Given the description of an element on the screen output the (x, y) to click on. 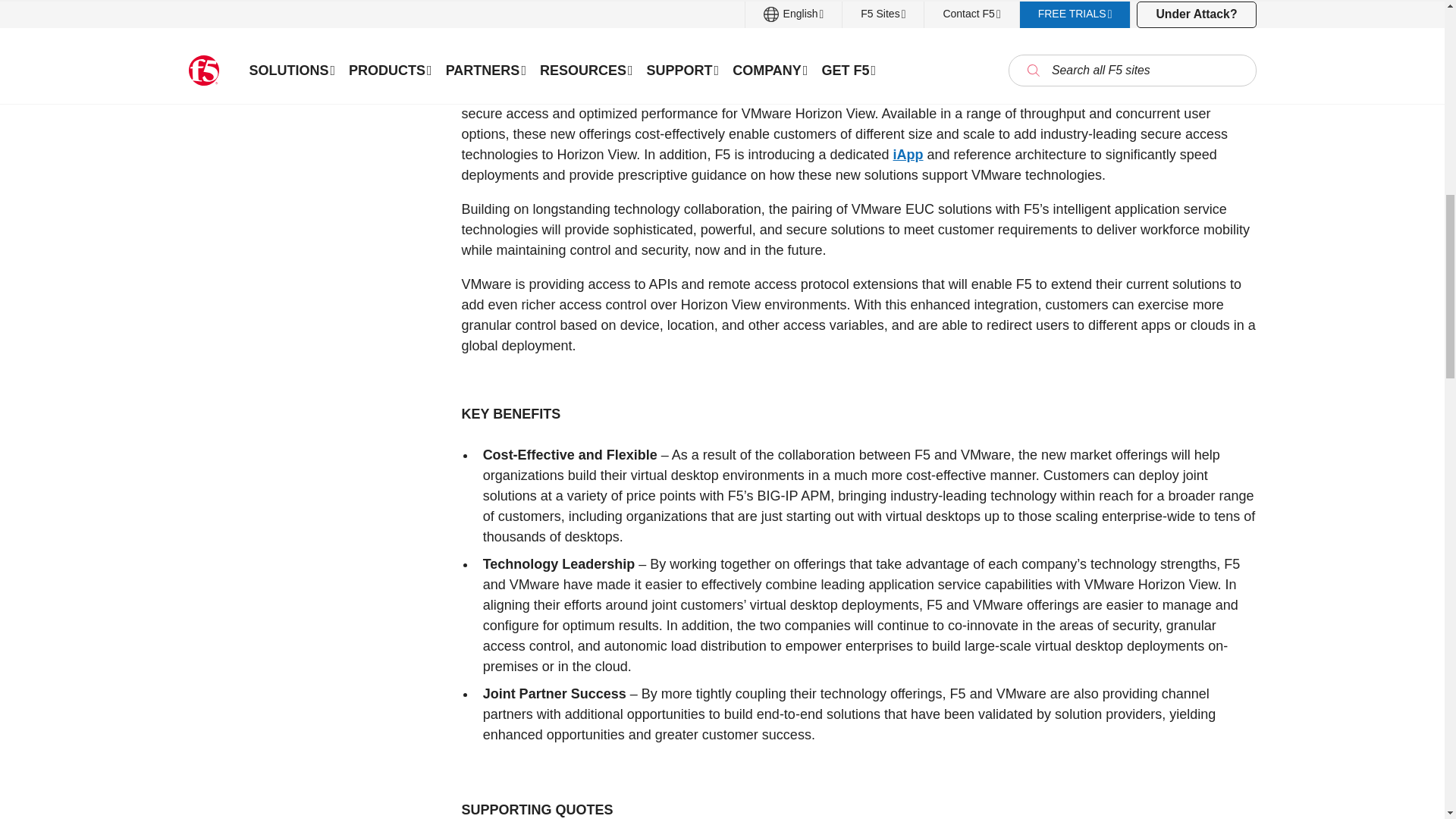
iApp (908, 154)
FFIV (977, 2)
BIG-IP Access Policy Manager (821, 92)
F5 Networks (849, 2)
